Given the description of an element on the screen output the (x, y) to click on. 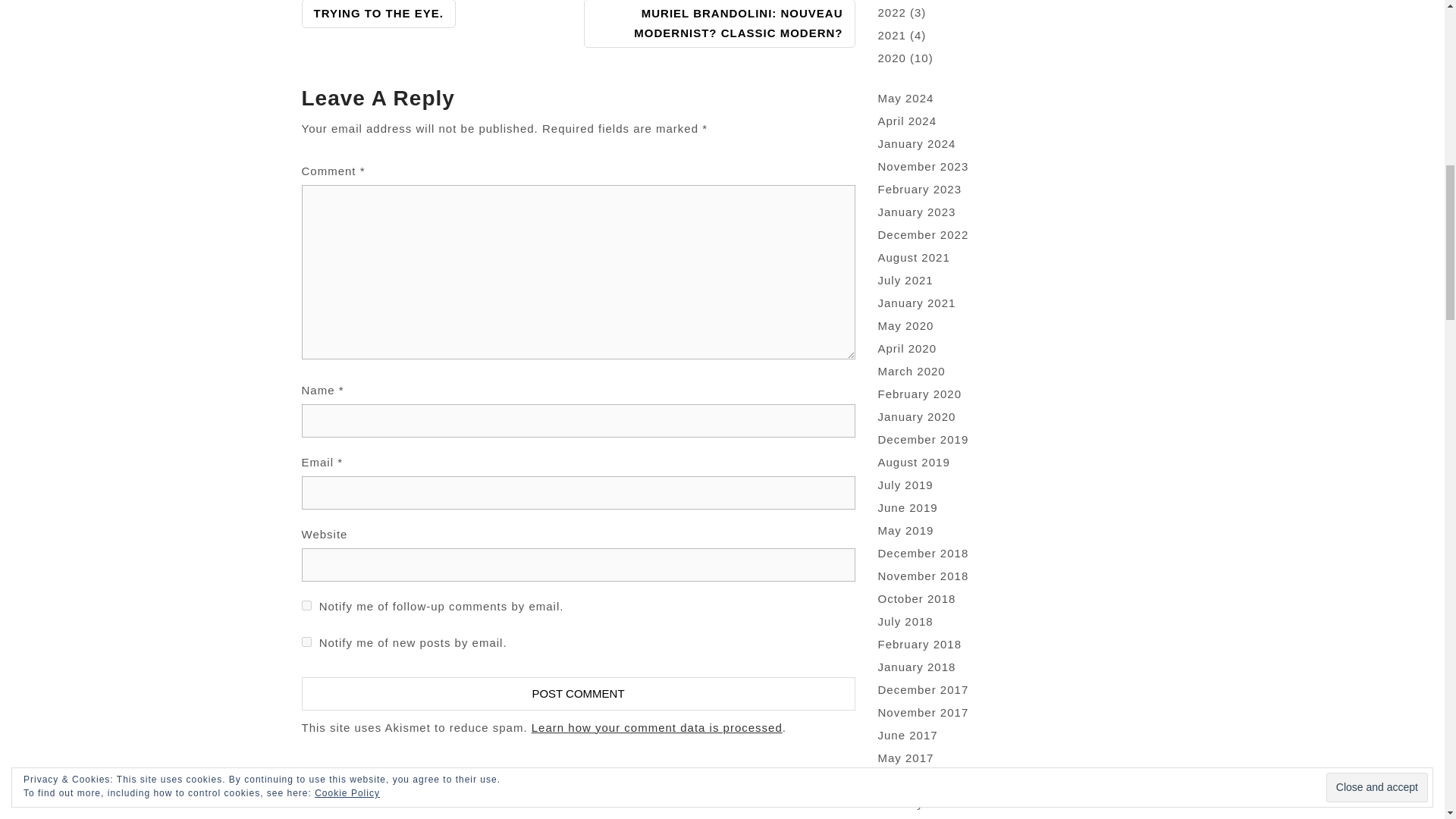
Post Comment (578, 693)
subscribe (306, 642)
TRYING TO THE EYE. (378, 13)
subscribe (306, 605)
MURIEL BRANDOLINI: NOUVEAU MODERNIST? CLASSIC MODERN? (719, 23)
Learn how your comment data is processed (657, 727)
Post Comment (578, 693)
